Given the description of an element on the screen output the (x, y) to click on. 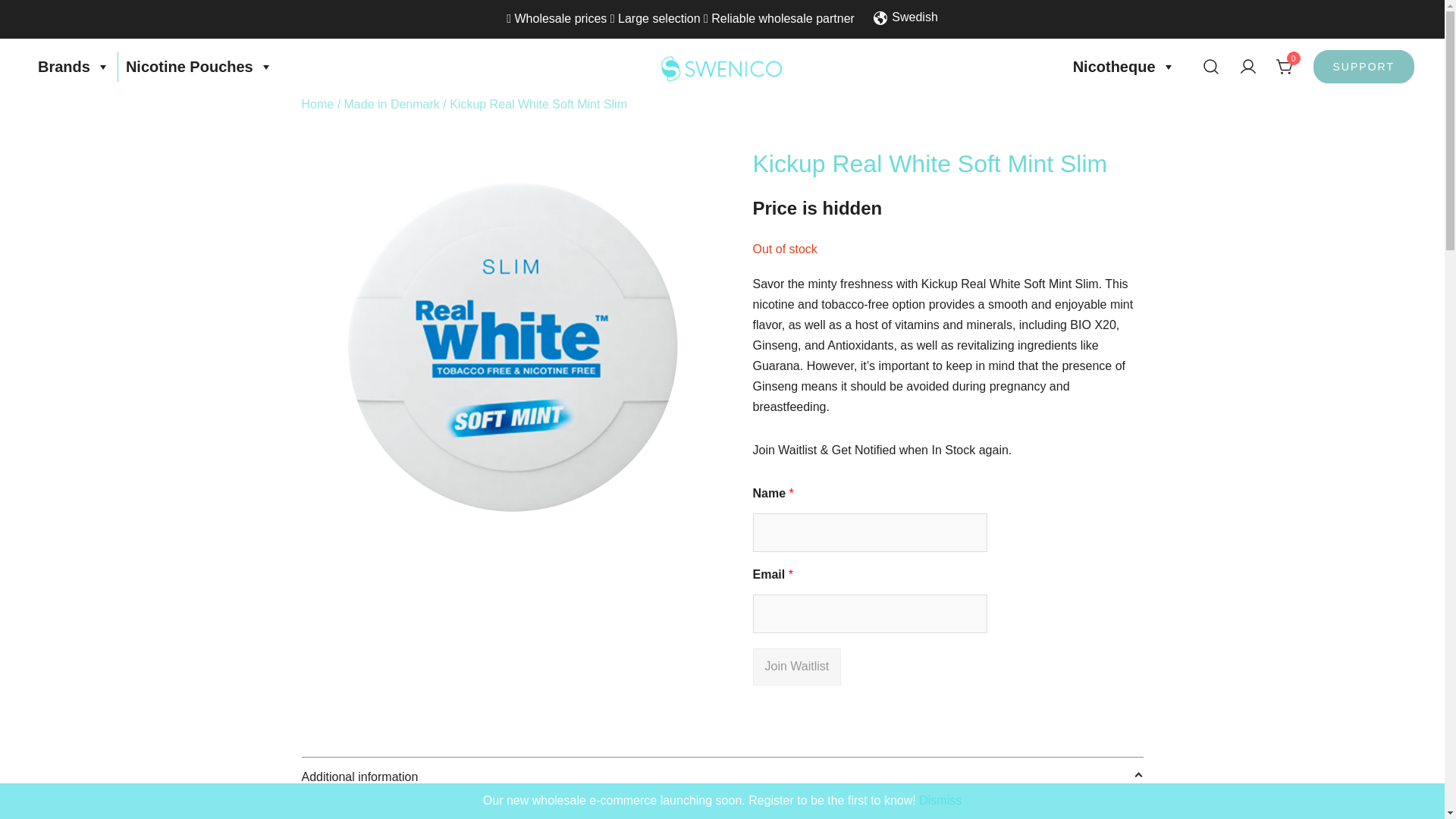
Swedish (905, 18)
Brands (73, 66)
0 (1285, 66)
See your shopping cart (1285, 65)
Your account (1248, 66)
